Given the description of an element on the screen output the (x, y) to click on. 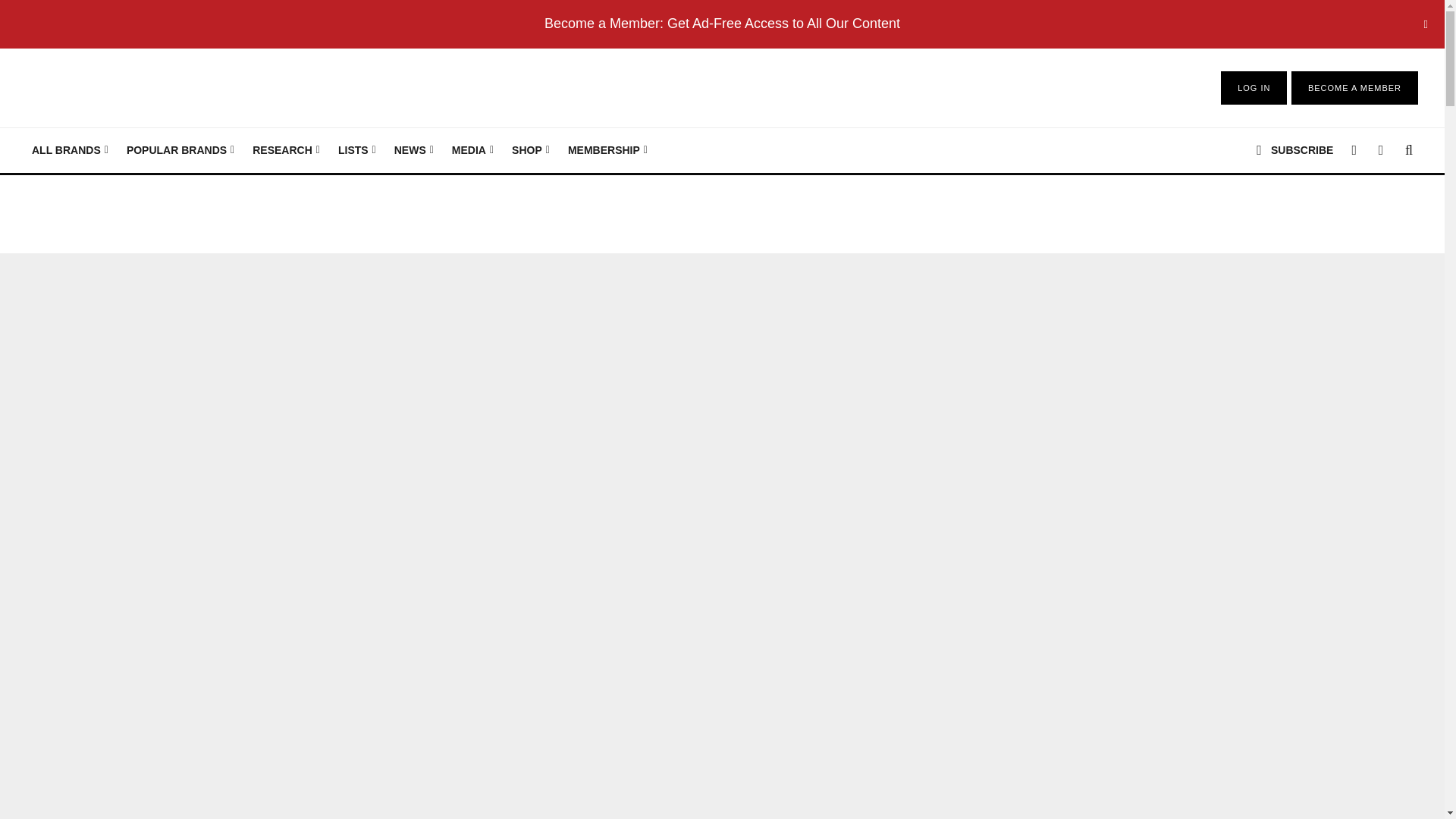
Become a Member: Get Ad-Free Access to All Our Content (721, 23)
LOG IN (1253, 87)
BECOME A MEMBER (1353, 87)
ALL BRANDS (70, 149)
Become a Member: Get Ad-Free Access to All Our Content (721, 23)
